Given the description of an element on the screen output the (x, y) to click on. 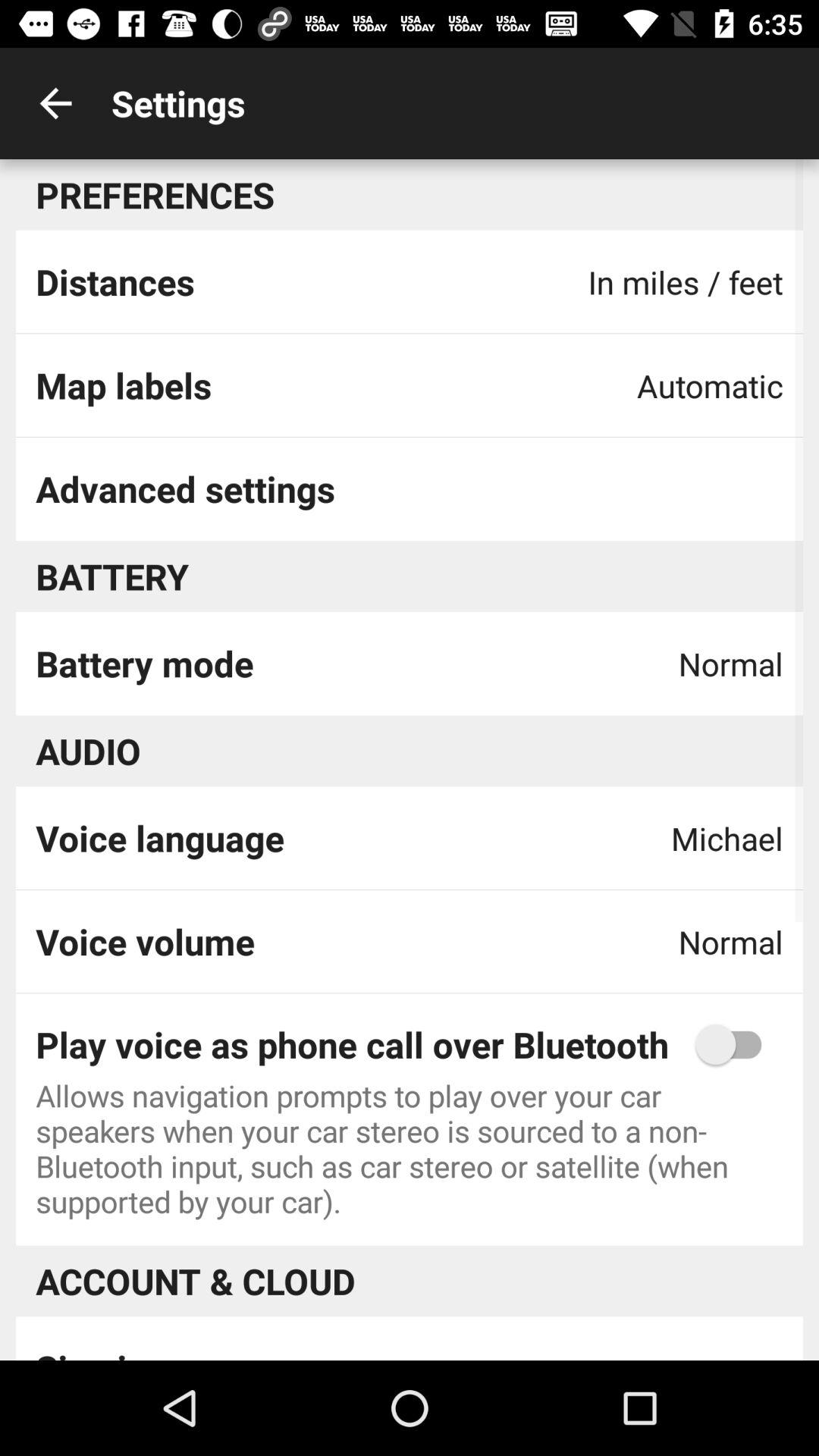
select the audio (88, 750)
